Given the description of an element on the screen output the (x, y) to click on. 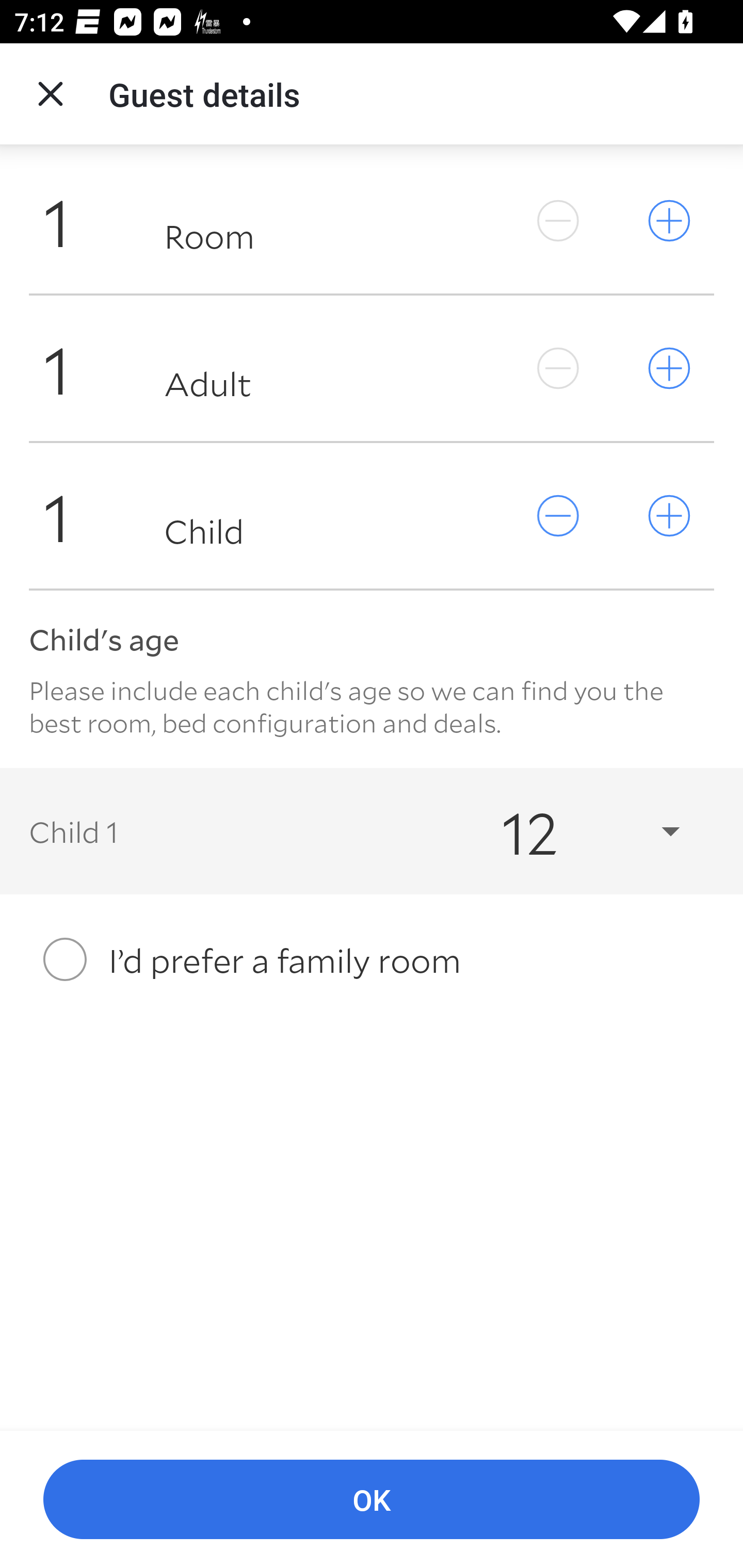
12 (573, 830)
I’d prefer a family room (371, 959)
OK (371, 1499)
